Given the description of an element on the screen output the (x, y) to click on. 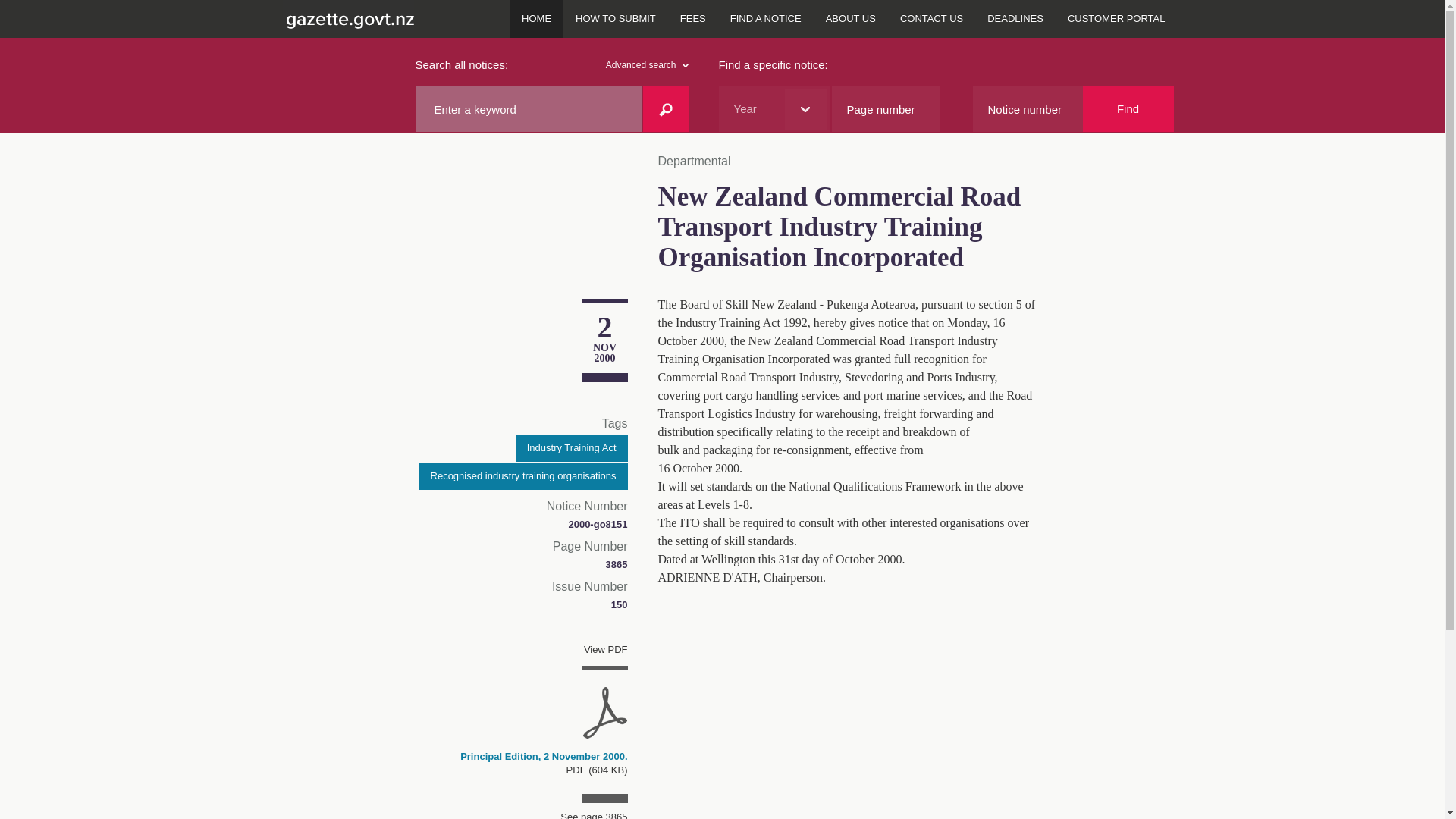
Industry Training Act (571, 447)
CUSTOMER PORTAL (1116, 18)
HOME (536, 18)
Gazette.govt.nz (347, 18)
DEADLINES (1015, 18)
FEES (692, 18)
HOW TO SUBMIT (615, 18)
Recognised industry training organisations (523, 476)
Advanced search (646, 65)
CONTACT US (931, 18)
FIND A NOTICE (765, 18)
Find (1128, 108)
ABOUT US (850, 18)
Find (1128, 108)
